Given the description of an element on the screen output the (x, y) to click on. 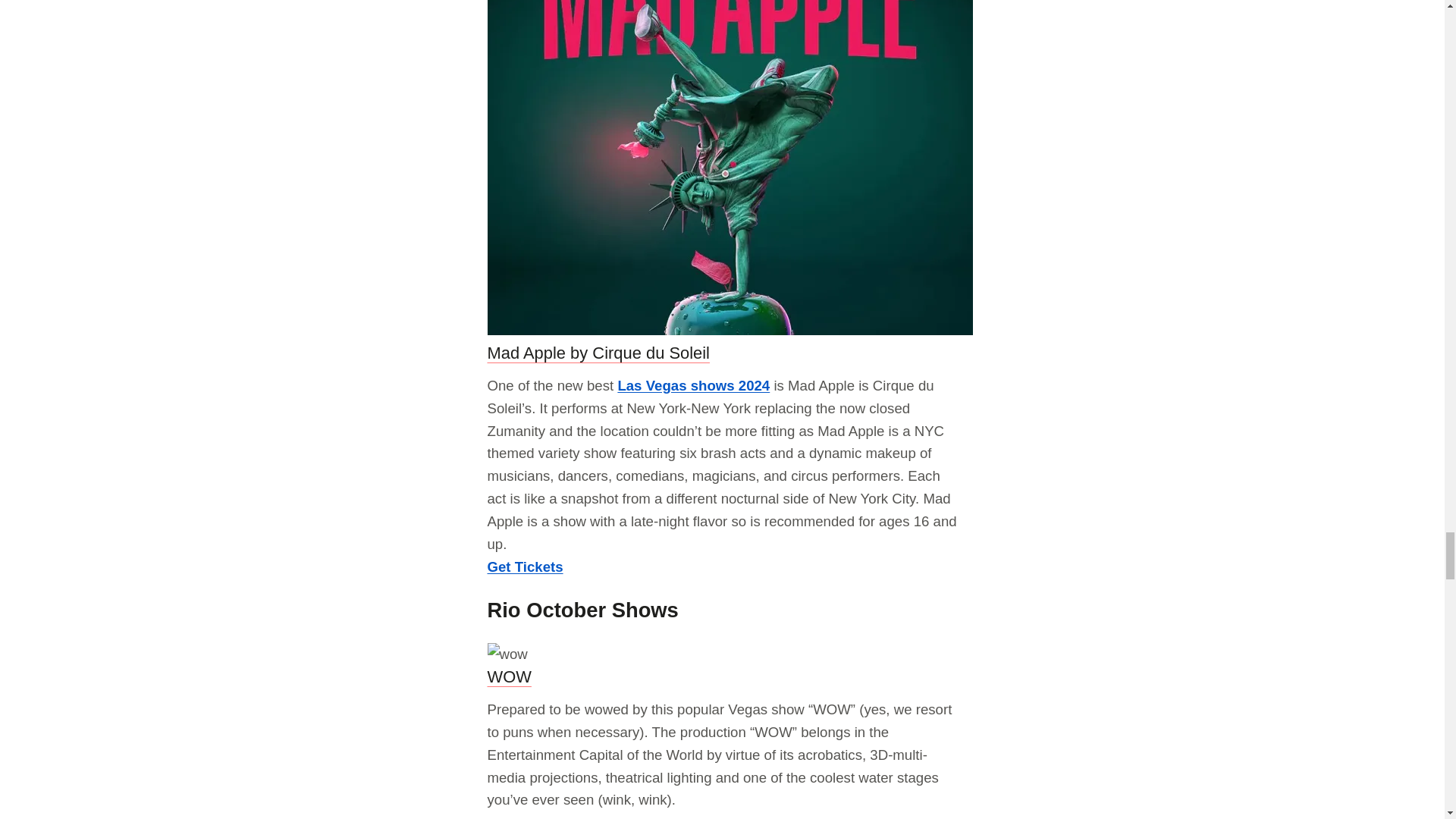
Get Tickets (524, 565)
Las Vegas shows 2024 (693, 385)
